Given the description of an element on the screen output the (x, y) to click on. 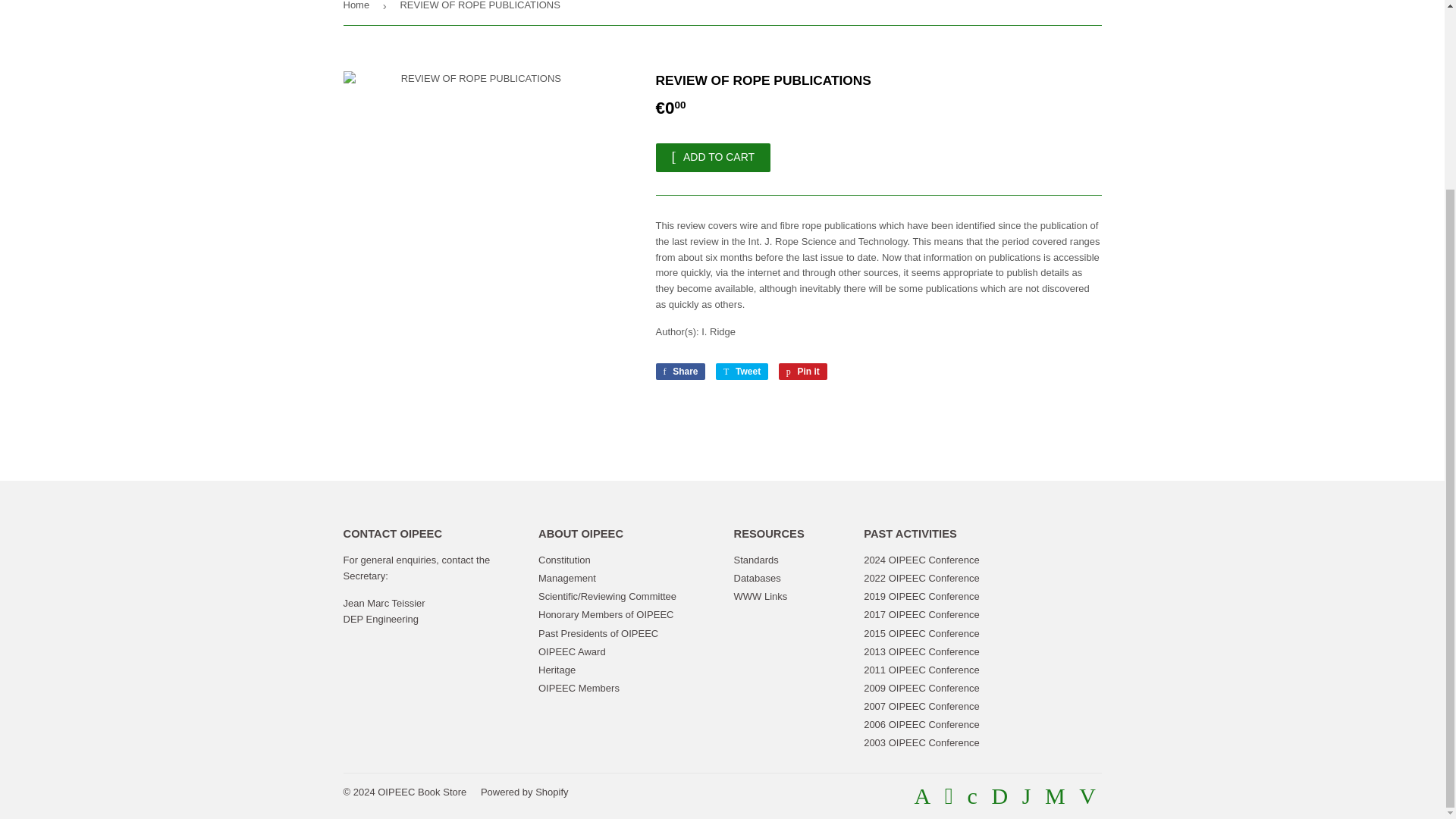
Tweet on Twitter (742, 371)
Share on Facebook (679, 371)
Back to the frontpage (358, 12)
Pin on Pinterest (802, 371)
